Given the description of an element on the screen output the (x, y) to click on. 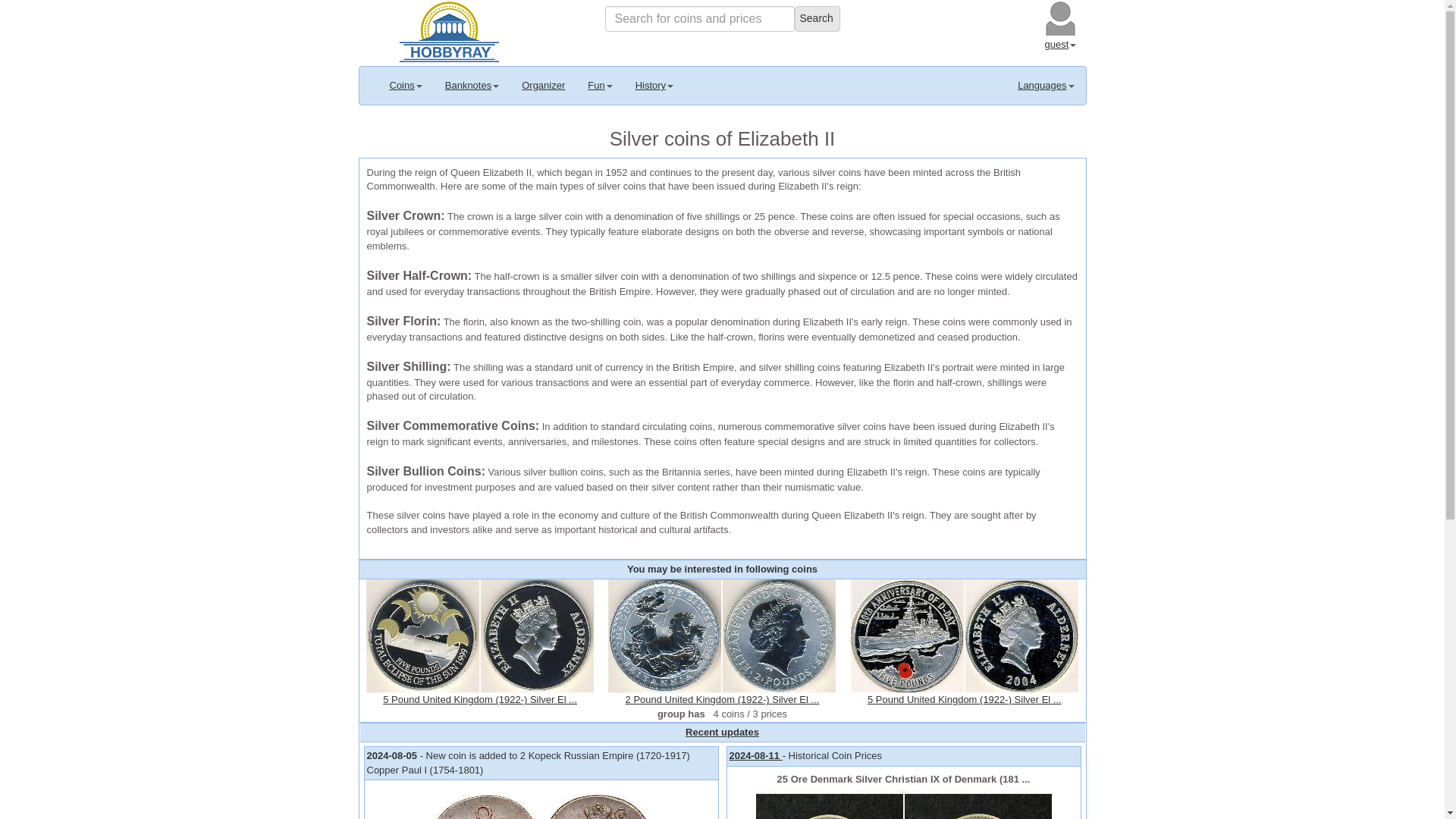
Fun (599, 85)
Coins (404, 85)
Organizer (543, 85)
Banknotes (472, 85)
guest (1061, 43)
Search (817, 18)
History (654, 85)
Search (817, 18)
